Given the description of an element on the screen output the (x, y) to click on. 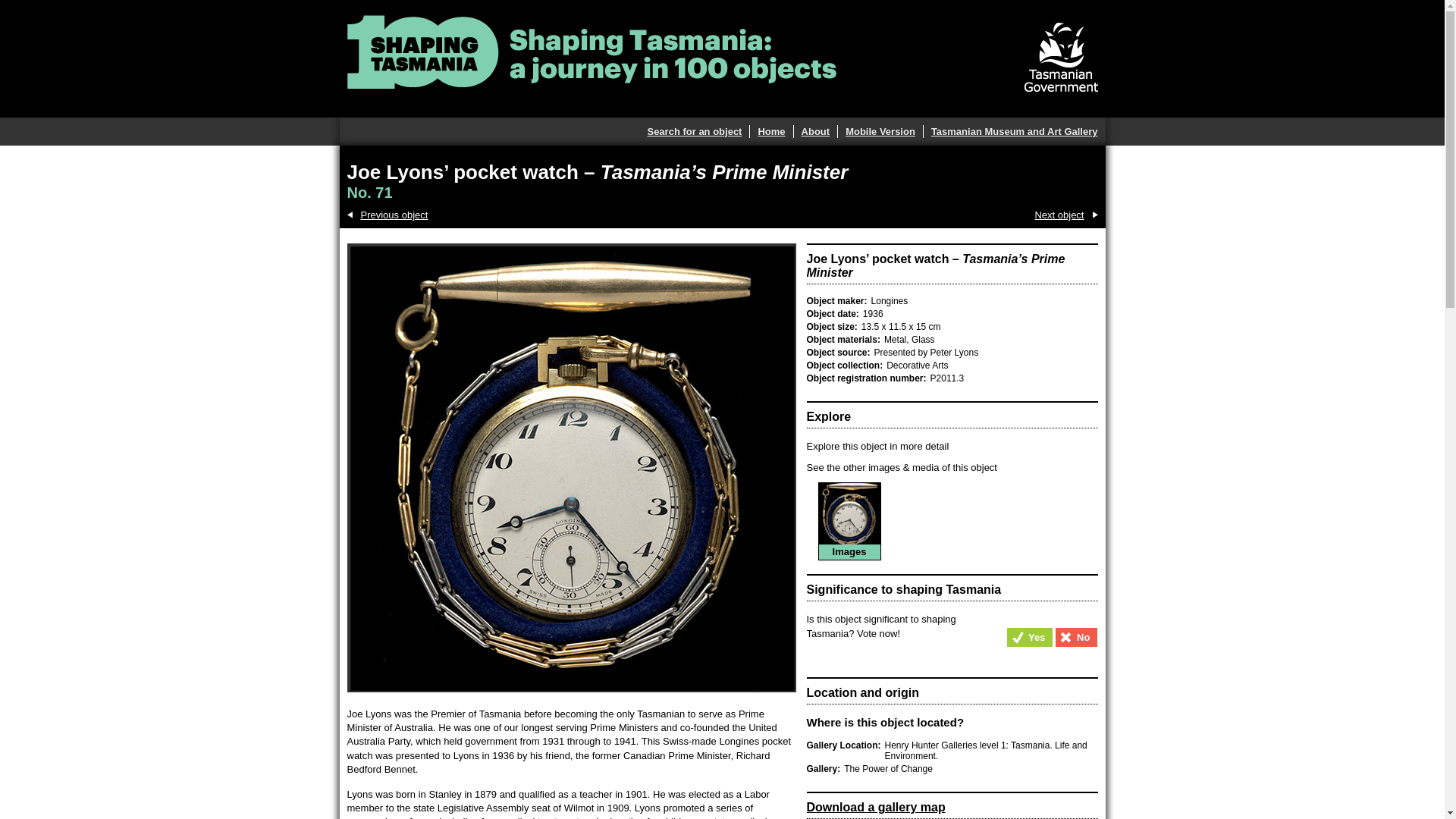
Mobile Version (876, 131)
Previous object (387, 214)
About (811, 131)
Home (766, 131)
Search for an object (693, 131)
Tasmanian Museum and Art Gallery (1010, 131)
Download a gallery map (875, 807)
Next object (1065, 214)
